Given the description of an element on the screen output the (x, y) to click on. 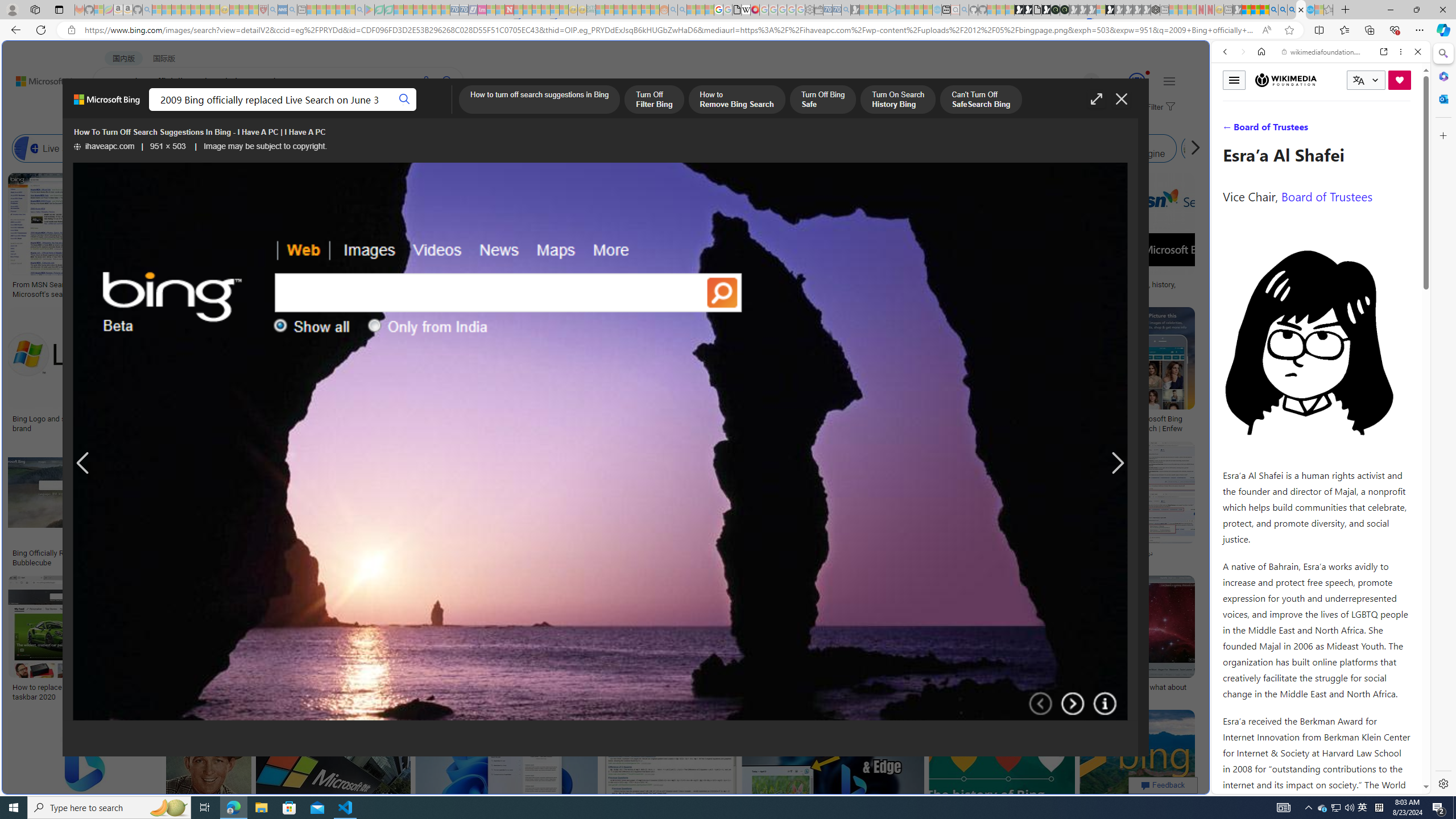
Bing Logo and symbol, meaning, history, PNG, brandSave (98, 371)
How to replace Bing in Windows 10 search on the taskbar 2020 (93, 691)
Scroll right (1192, 148)
Bing Best Search Engine (684, 148)
